Given the description of an element on the screen output the (x, y) to click on. 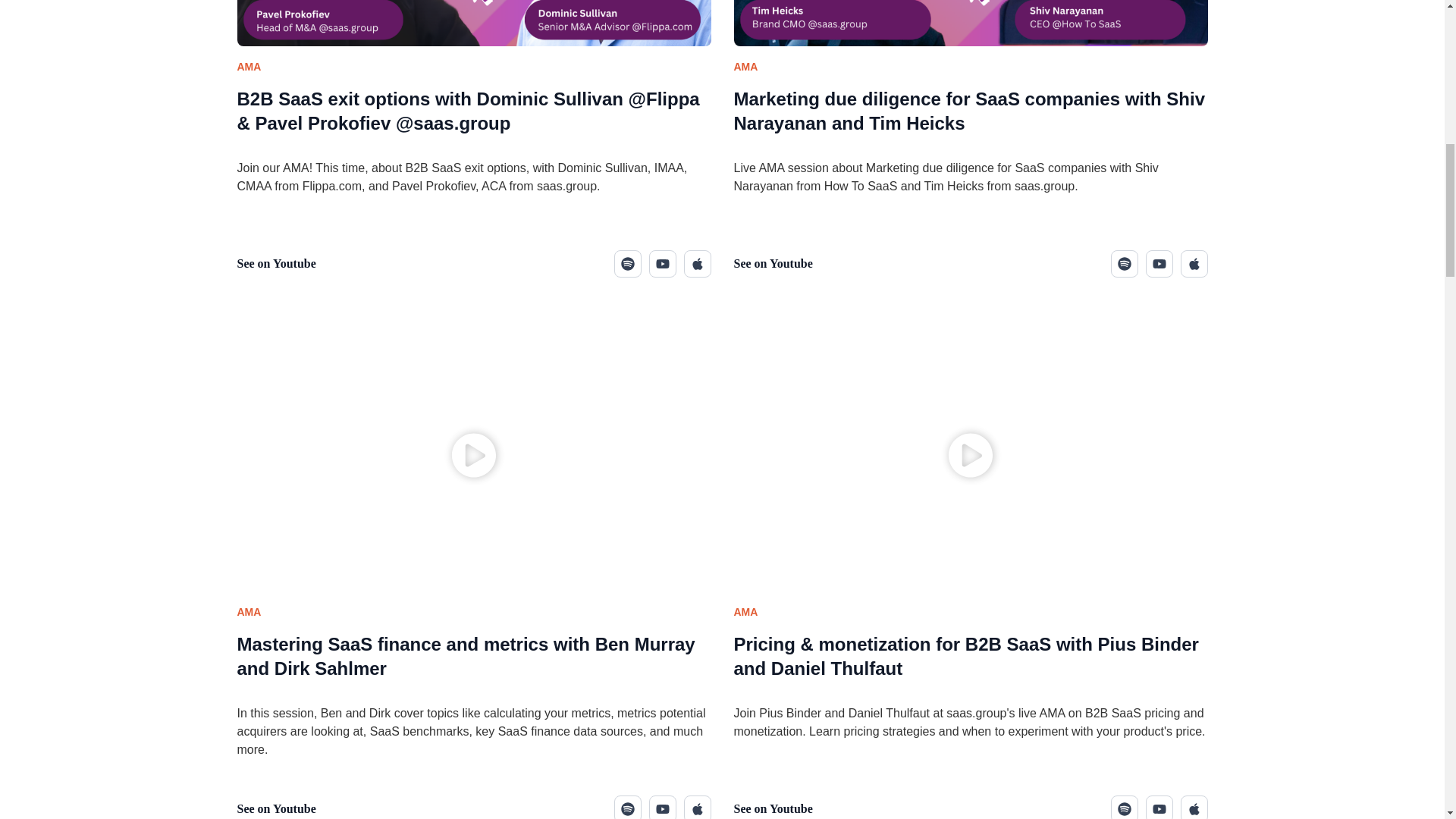
AMA (247, 66)
AMA (745, 66)
See on Youtube (280, 263)
AMA (247, 612)
See on Youtube (280, 809)
See on Youtube (778, 263)
